Given the description of an element on the screen output the (x, y) to click on. 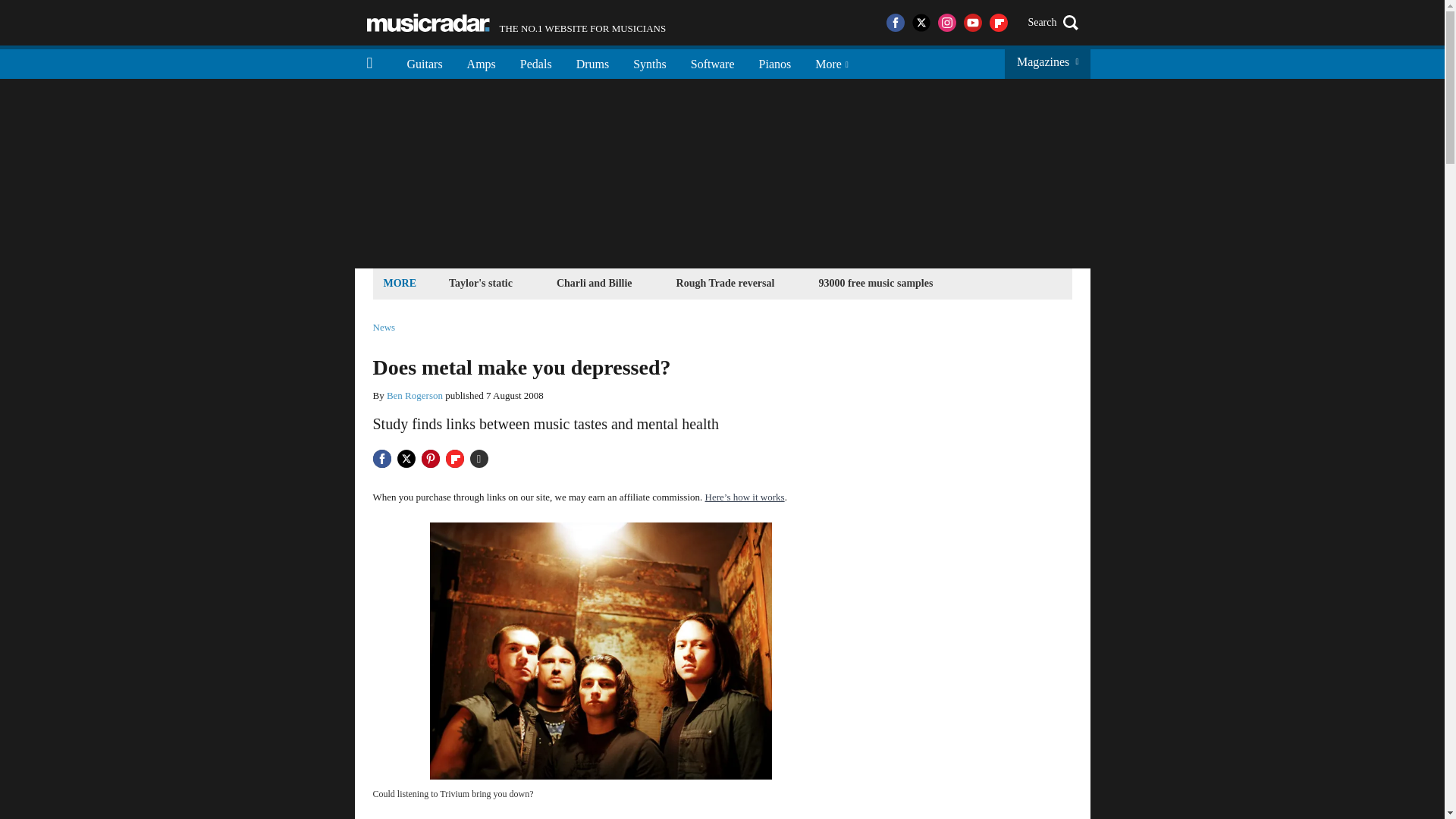
Synths (649, 61)
Taylor's static (481, 282)
93000 free music samples (874, 282)
Guitars (424, 61)
Ben Rogerson (414, 395)
Pianos (774, 61)
Charli and Billie (594, 282)
Amps (481, 61)
Pedals (536, 61)
Rough Trade reversal (725, 282)
